Given the description of an element on the screen output the (x, y) to click on. 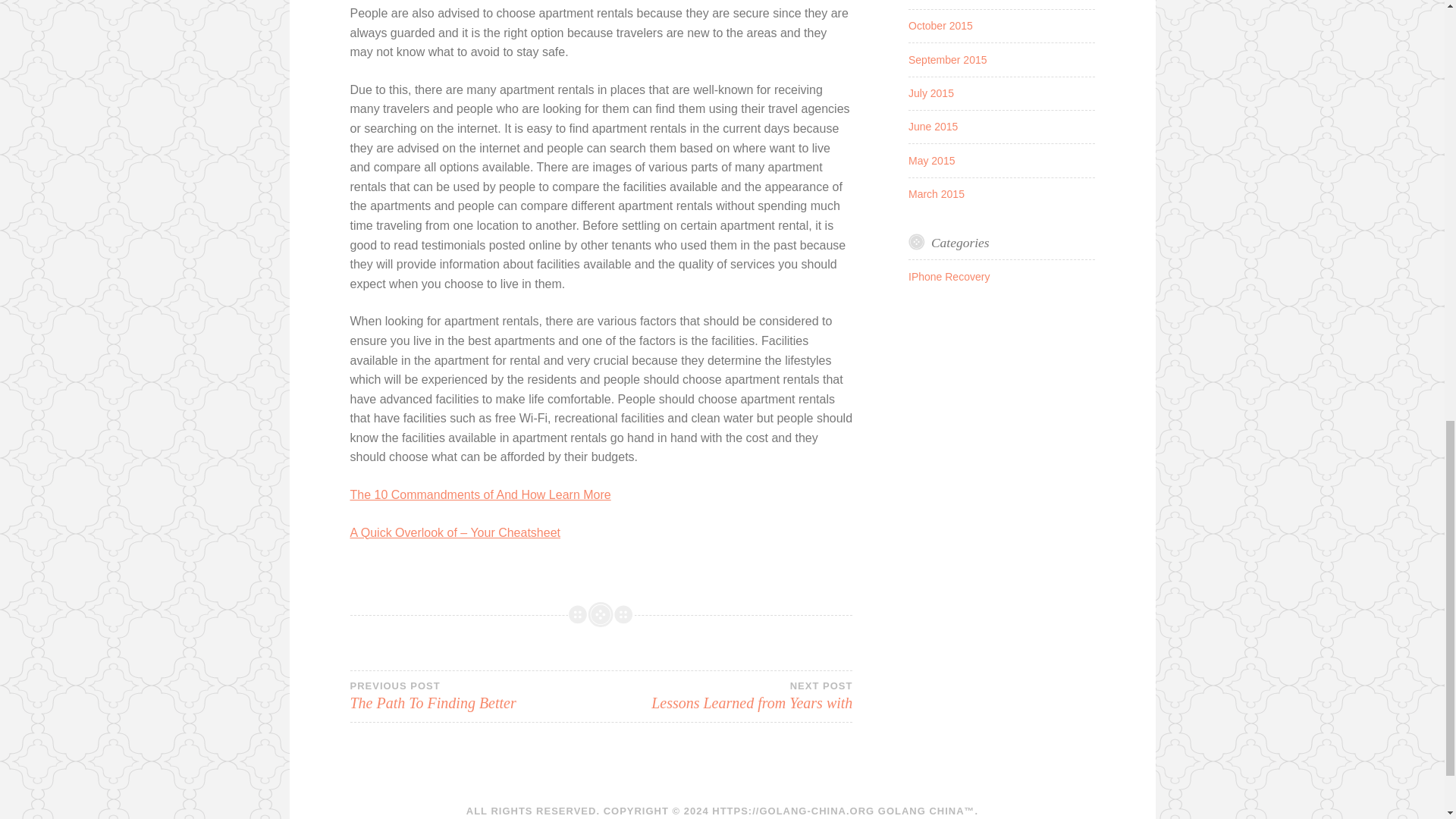
July 2015 (930, 92)
September 2015 (947, 60)
May 2015 (931, 160)
The 10 Commandments of And How Learn More (480, 494)
June 2015 (933, 126)
March 2015 (475, 695)
October 2015 (726, 695)
IPhone Recovery (935, 193)
